Given the description of an element on the screen output the (x, y) to click on. 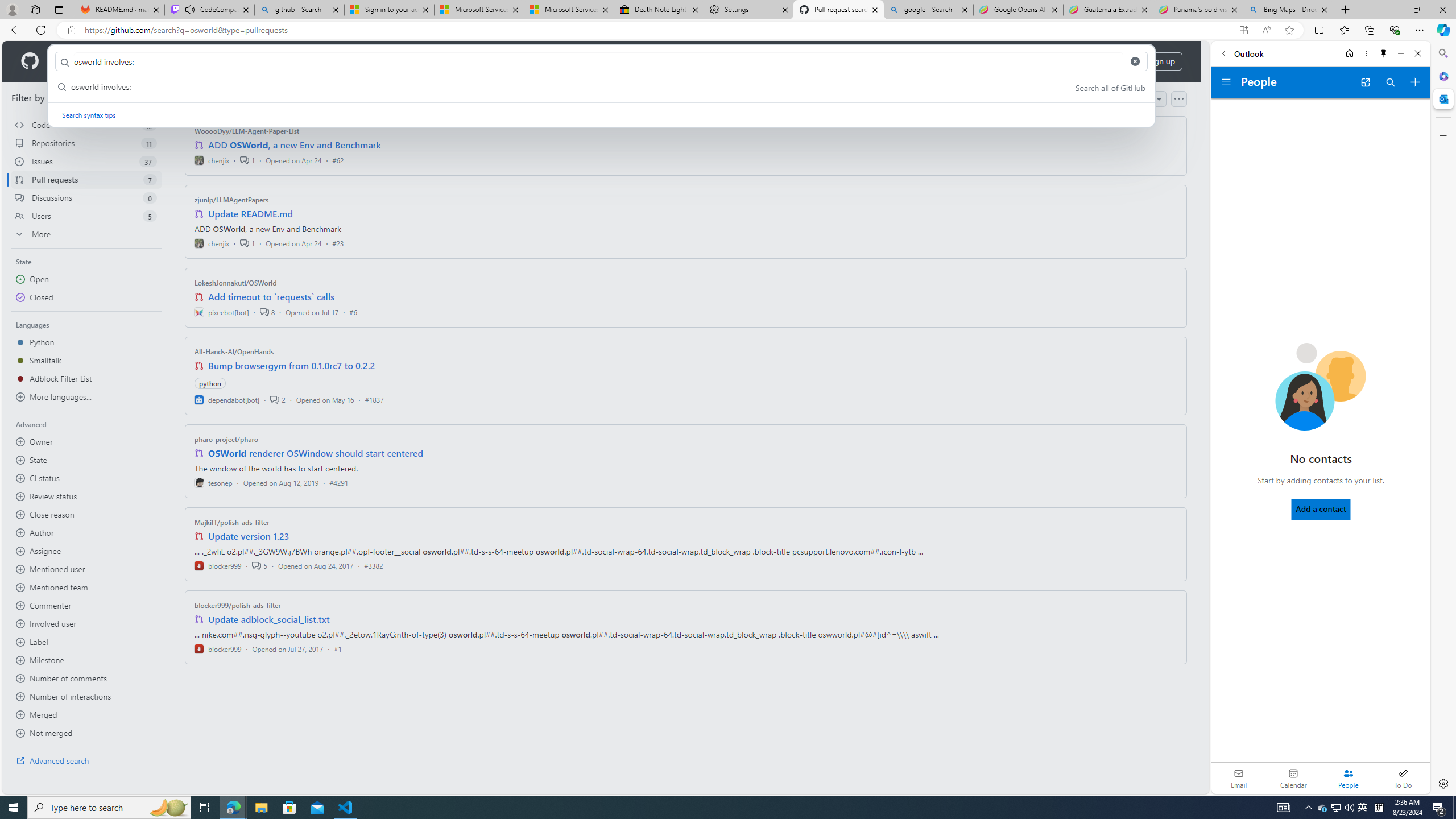
Selected people module (1347, 777)
Create new contact (1414, 82)
Add timeout to `requests` calls (271, 296)
More (86, 234)
Resources (187, 60)
Bump browsergym from 0.1.0rc7 to 0.2.2 (291, 365)
